Given the description of an element on the screen output the (x, y) to click on. 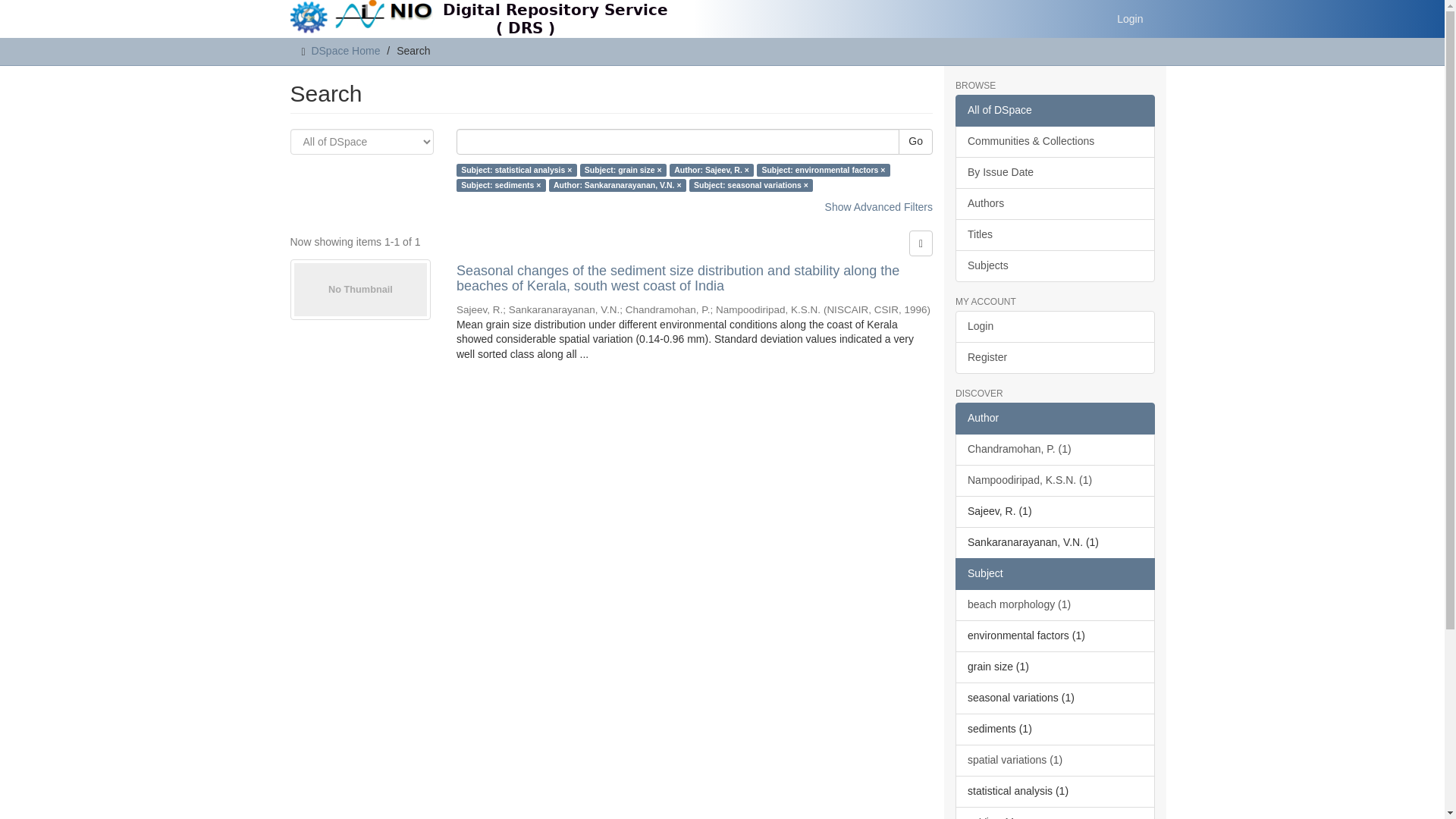
Go (915, 141)
Show Advanced Filters (879, 206)
Login (1129, 18)
DSpace Home (345, 50)
